Given the description of an element on the screen output the (x, y) to click on. 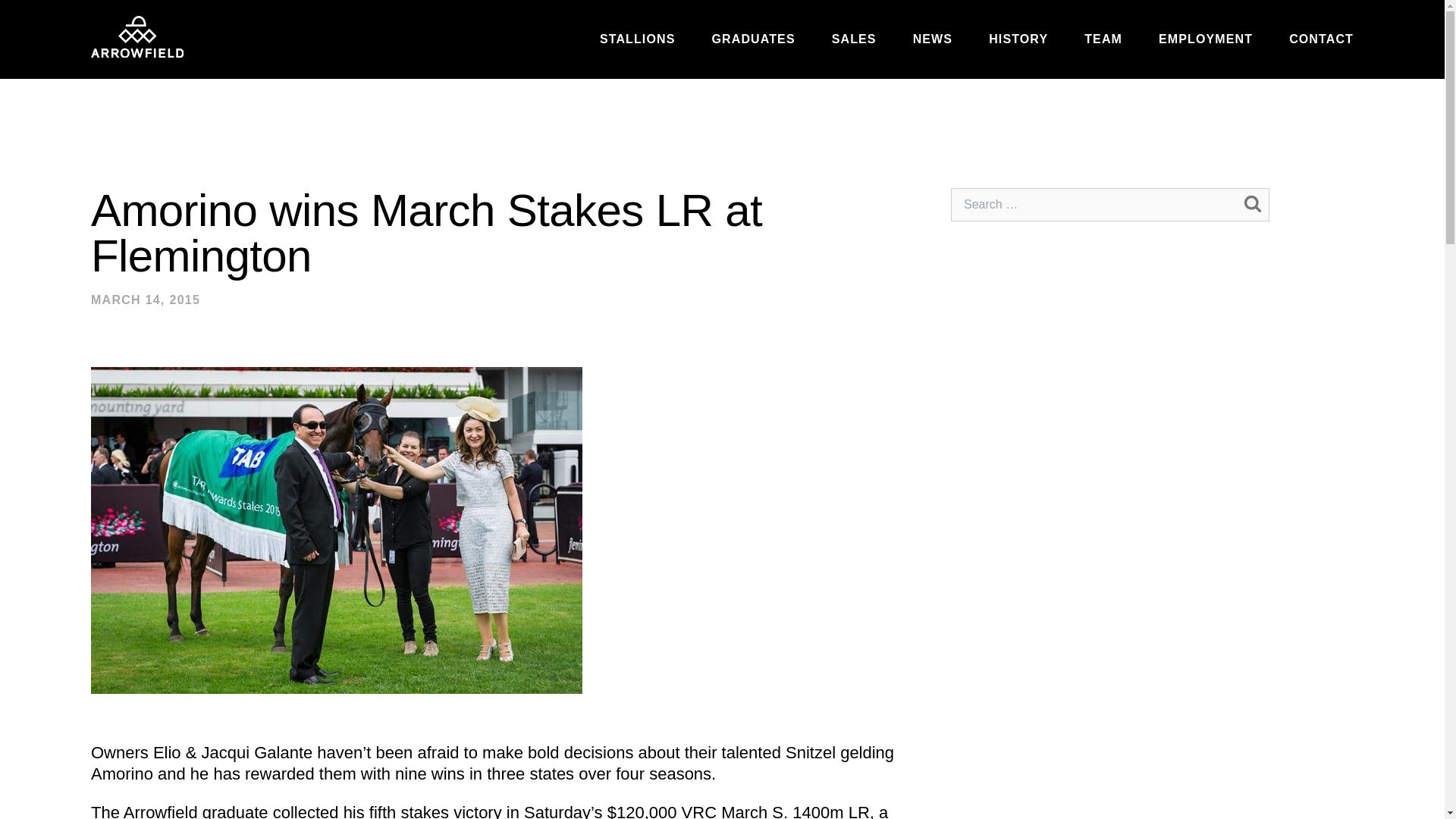
GRADUATES (752, 39)
NEWS (932, 39)
STALLIONS (637, 39)
CONTACT (1321, 39)
EMPLOYMENT (1205, 39)
SALES (853, 39)
HISTORY (1018, 39)
Return to the homepage (136, 36)
TEAM (1103, 39)
